Given the description of an element on the screen output the (x, y) to click on. 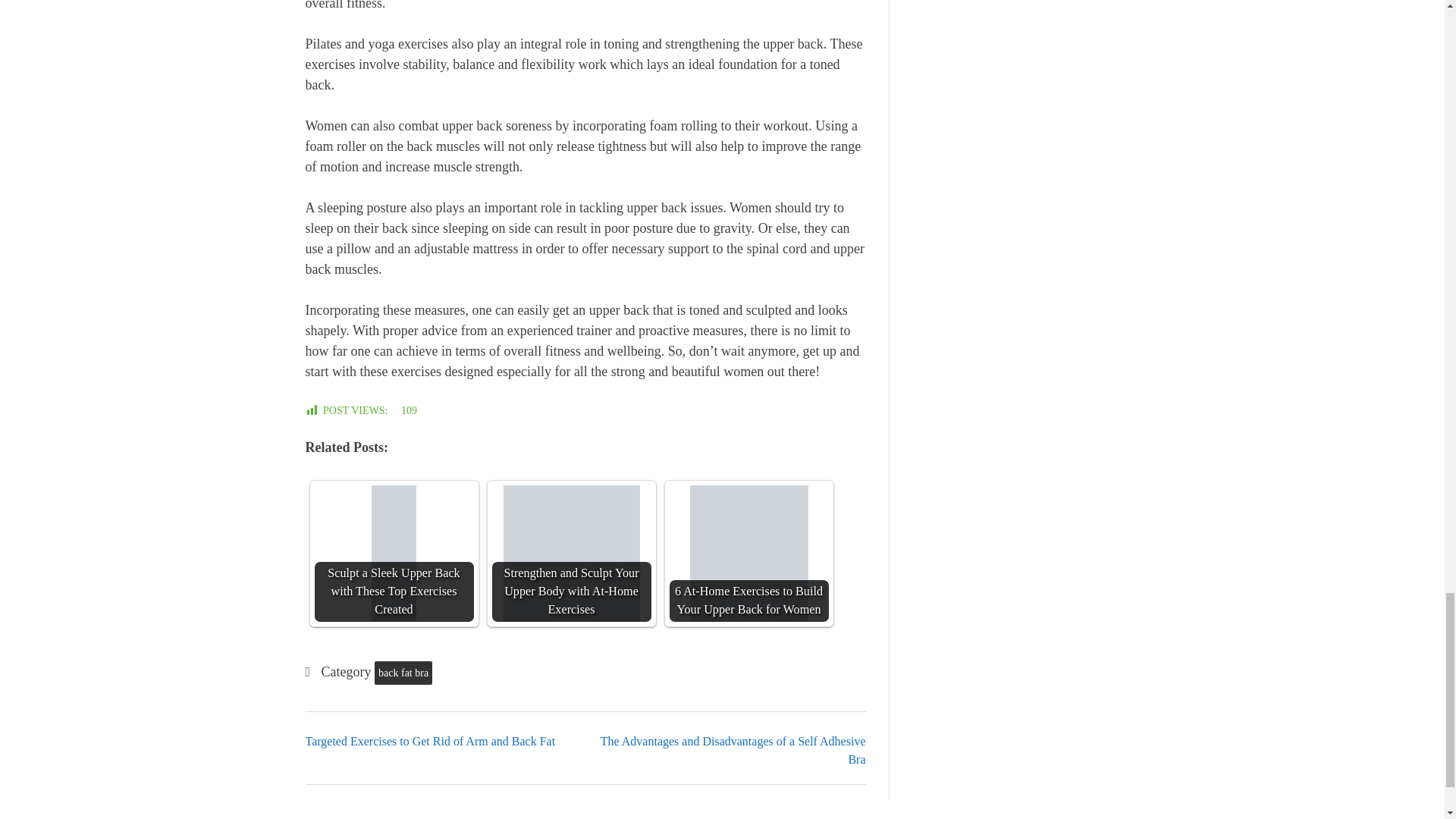
Sculpt a Sleek Upper Back with These Top Exercises Created (393, 553)
Targeted Exercises to Get Rid of Arm and Back Fat (429, 740)
Strengthen and Sculpt Your Upper Body with At-Home Exercises (571, 553)
back fat bra (403, 672)
Strengthen and Sculpt Your Upper Body with At-Home Exercises (571, 553)
The Advantages and Disadvantages of a Self Adhesive Bra (732, 749)
6 At-Home Exercises to Build Your Upper Back for Women (748, 553)
